Given the description of an element on the screen output the (x, y) to click on. 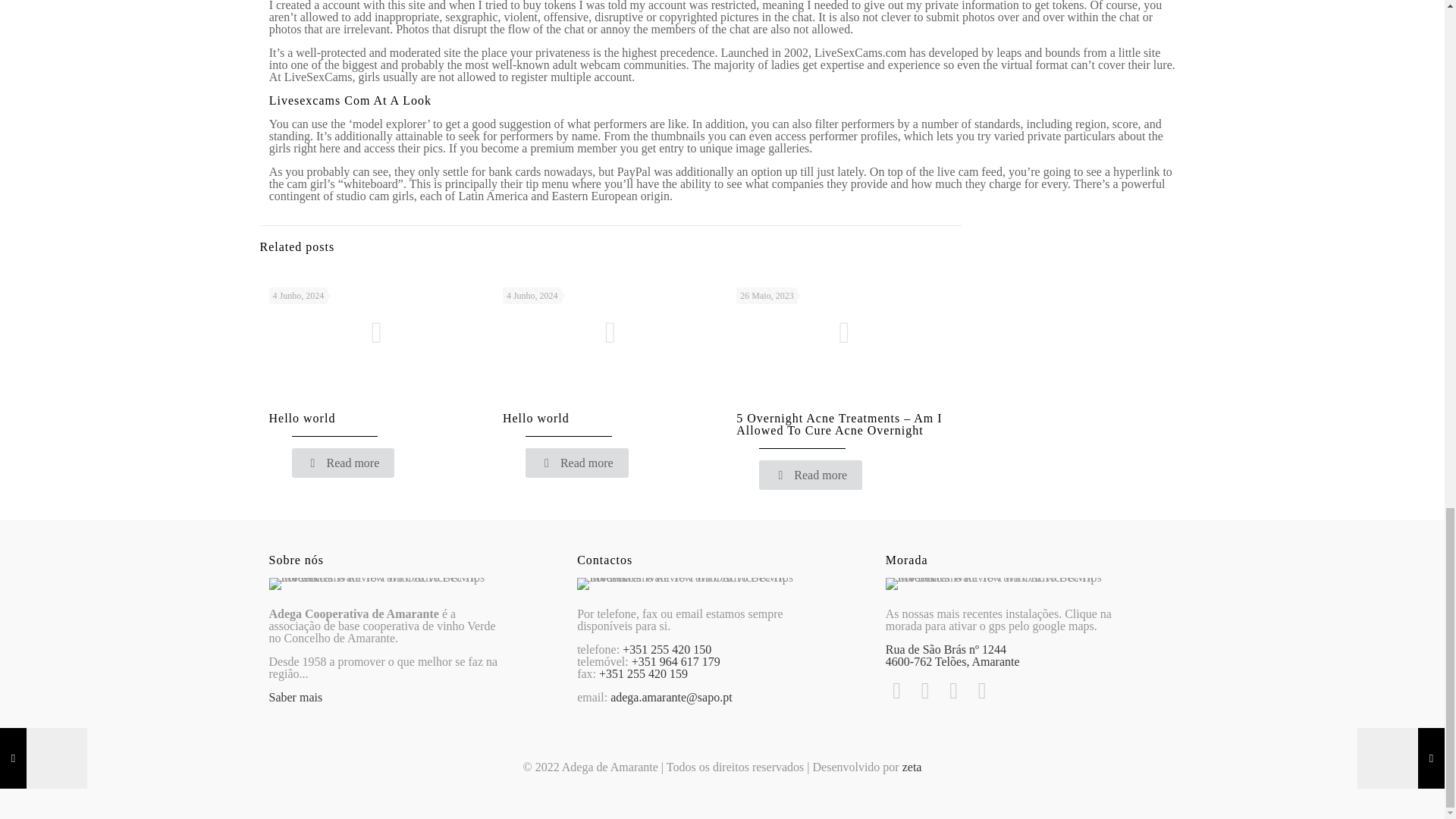
Read more (576, 462)
Hello world (535, 418)
Read more (342, 462)
Read more (809, 474)
zeta (911, 766)
Hello world (300, 418)
Saber mais (294, 697)
